Given the description of an element on the screen output the (x, y) to click on. 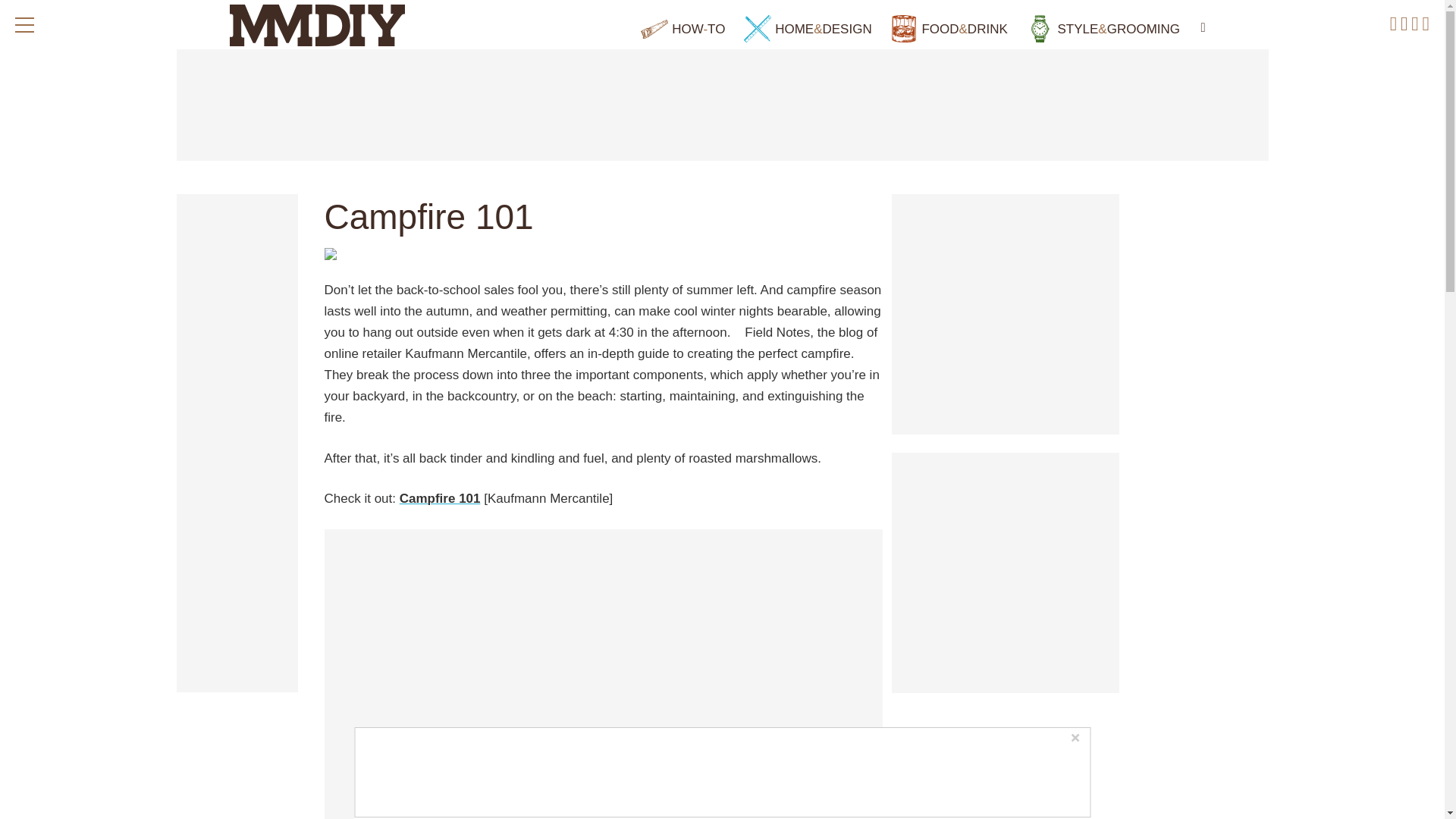
Campfire 101 (439, 498)
HOW-TO (682, 28)
